Given the description of an element on the screen output the (x, y) to click on. 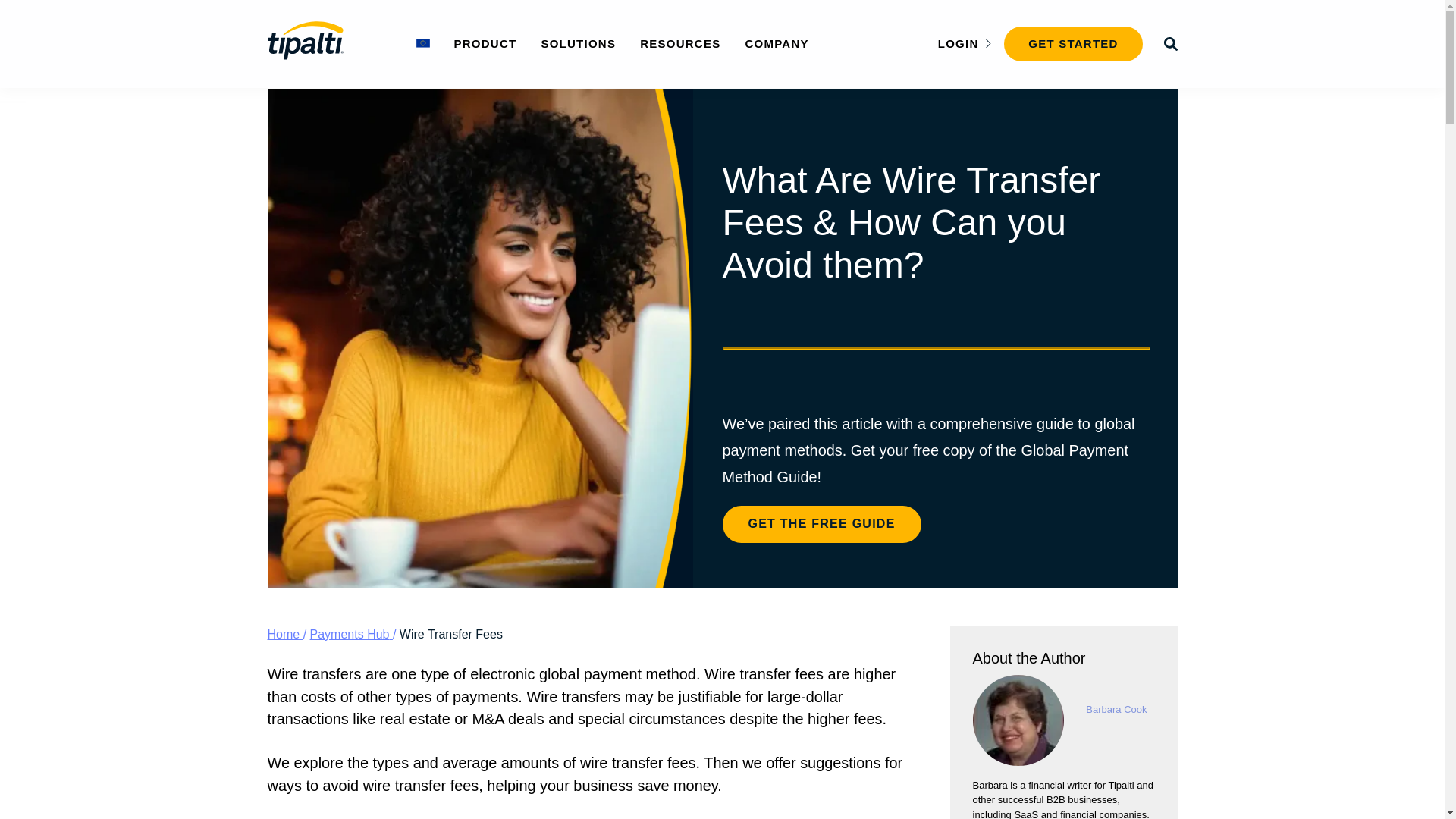
SOLUTIONS (577, 42)
PRODUCT (484, 42)
RESOURCES (680, 42)
